Given the description of an element on the screen output the (x, y) to click on. 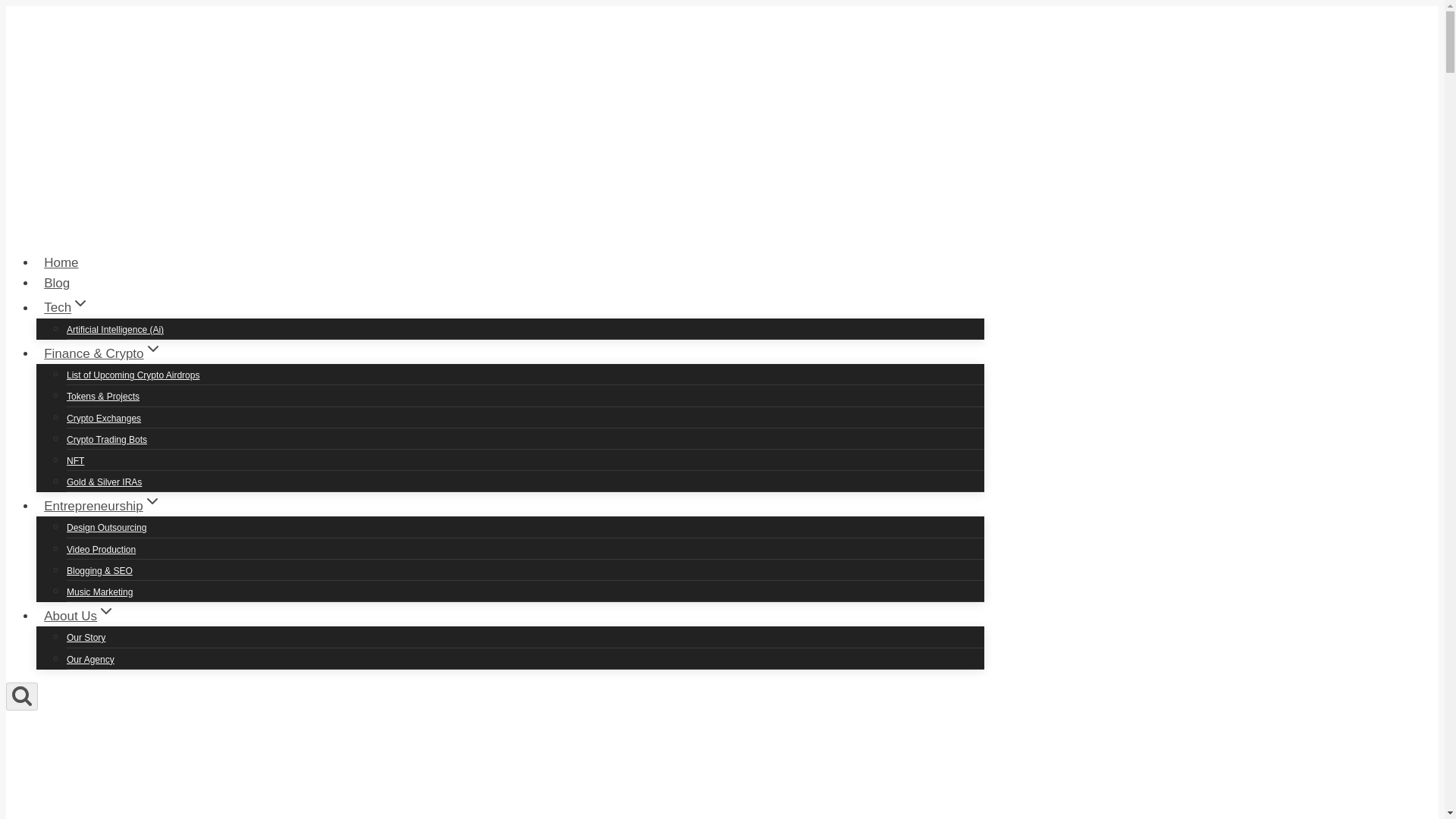
Expand (152, 348)
Video Production (100, 549)
Blog (56, 283)
Expand (79, 303)
Design Outsourcing (106, 527)
Expand (151, 501)
Crypto Trading Bots (106, 439)
About UsExpand (79, 615)
Our Story (85, 637)
Crypto Exchanges (103, 417)
EntrepreneurshipExpand (102, 505)
Expand (106, 610)
Search (21, 696)
TechExpand (66, 307)
